Given the description of an element on the screen output the (x, y) to click on. 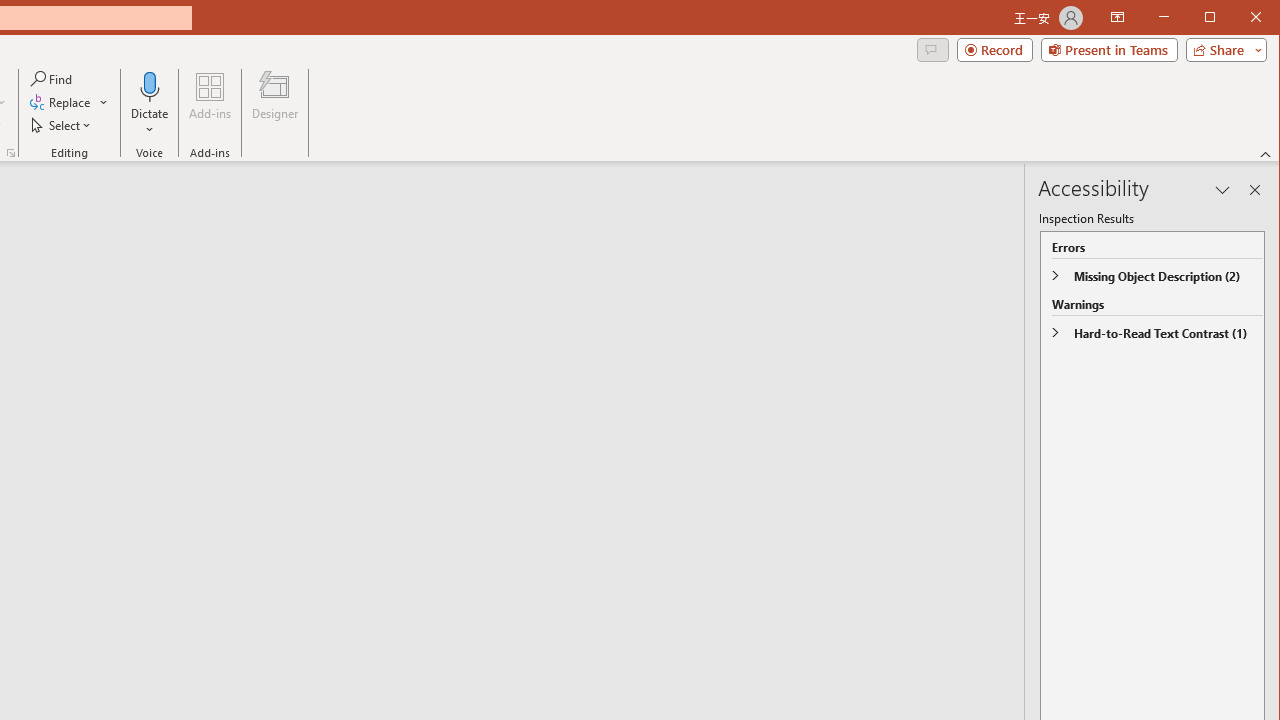
Select (62, 124)
Find... (52, 78)
